Given the description of an element on the screen output the (x, y) to click on. 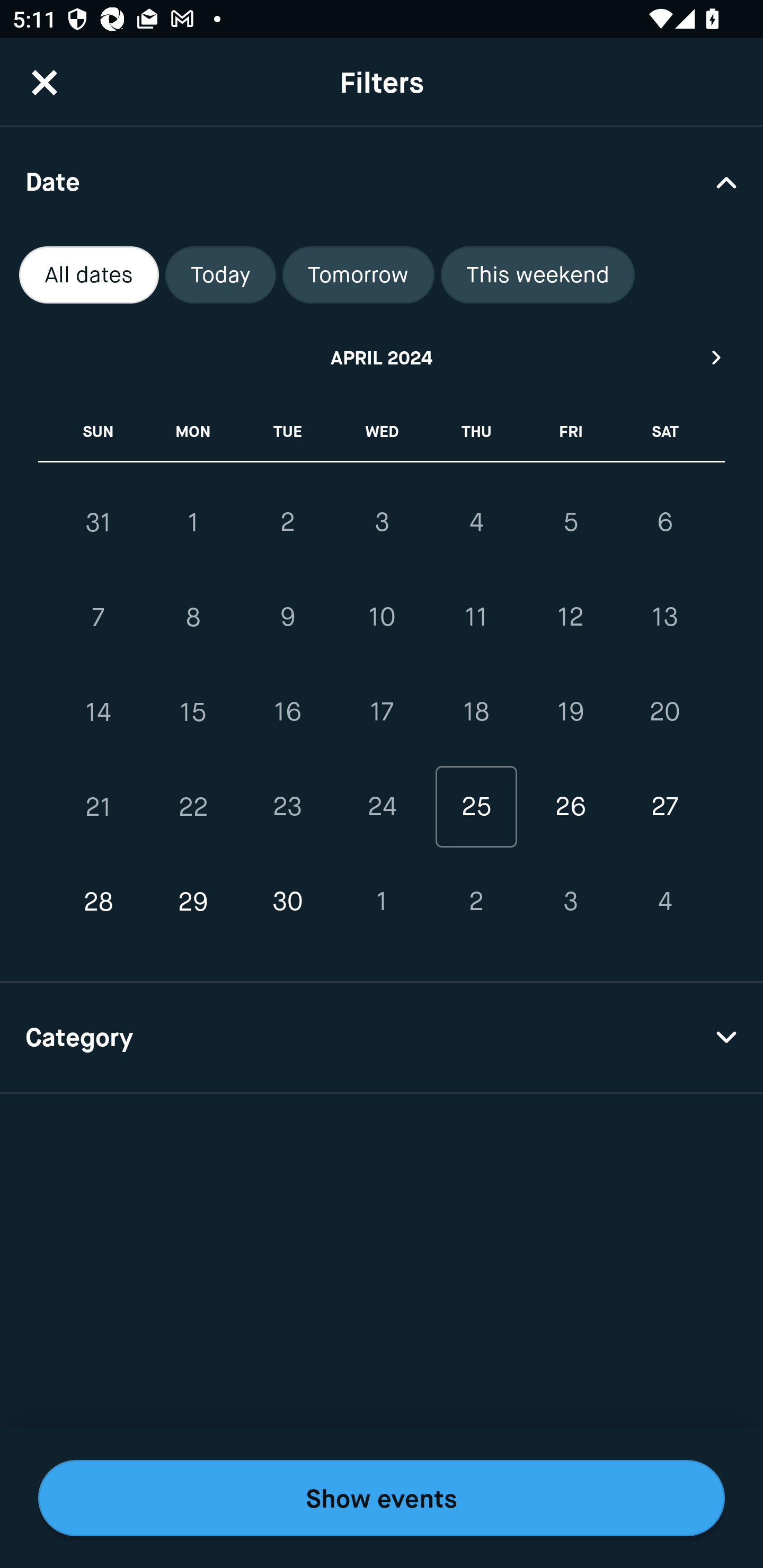
CloseButton (44, 82)
Date Drop Down Arrow (381, 181)
All dates (88, 274)
Today (220, 274)
Tomorrow (358, 274)
This weekend (537, 274)
Next (717, 357)
31 (98, 522)
1 (192, 522)
2 (287, 522)
3 (381, 522)
4 (475, 522)
5 (570, 522)
6 (664, 522)
7 (98, 617)
8 (192, 617)
9 (287, 617)
10 (381, 617)
11 (475, 617)
12 (570, 617)
13 (664, 617)
14 (98, 711)
15 (192, 711)
16 (287, 711)
17 (381, 711)
18 (475, 711)
19 (570, 711)
20 (664, 711)
21 (98, 806)
22 (192, 806)
23 (287, 806)
24 (381, 806)
25 (475, 806)
26 (570, 806)
27 (664, 806)
28 (98, 901)
29 (192, 901)
30 (287, 901)
1 (381, 901)
2 (475, 901)
3 (570, 901)
4 (664, 901)
Category Drop Down Arrow (381, 1038)
Show events (381, 1497)
